Given the description of an element on the screen output the (x, y) to click on. 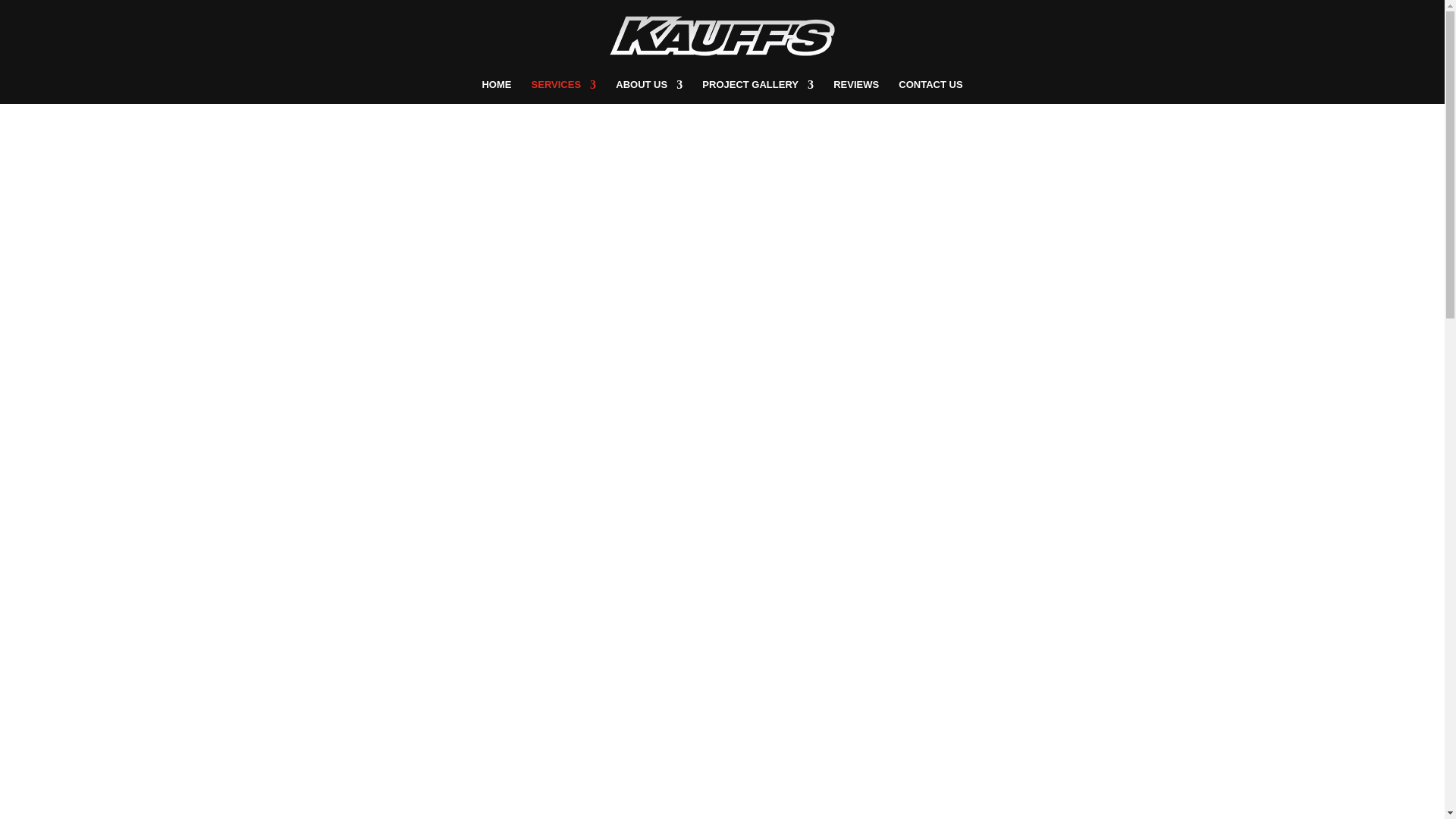
ABOUT US (648, 91)
SERVICES (563, 91)
REVIEWS (855, 91)
PROJECT GALLERY (757, 91)
CONTACT US (930, 91)
HOME (496, 91)
